Given the description of an element on the screen output the (x, y) to click on. 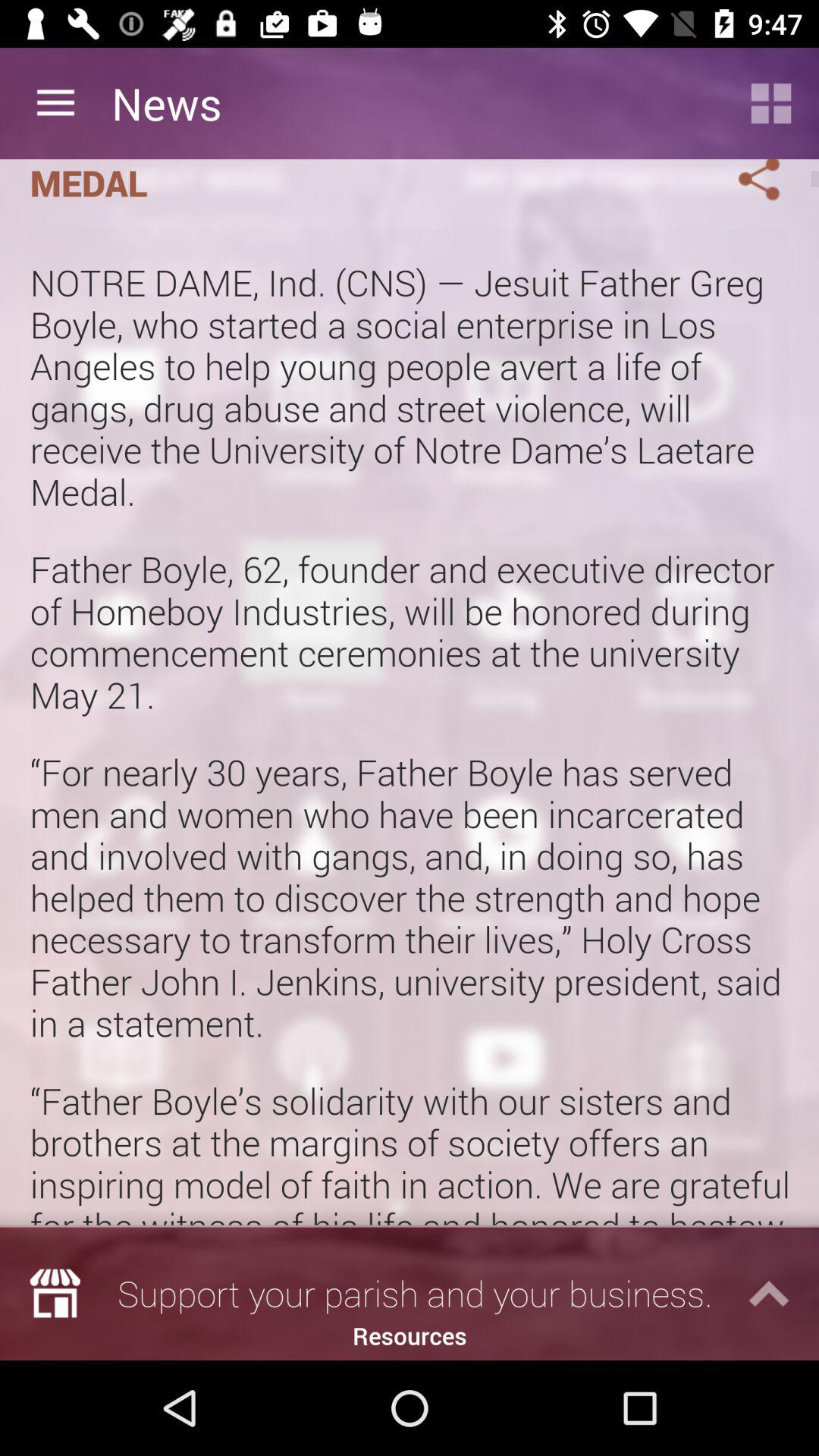
select the icon below the homeboy industries founder icon (409, 726)
